Given the description of an element on the screen output the (x, y) to click on. 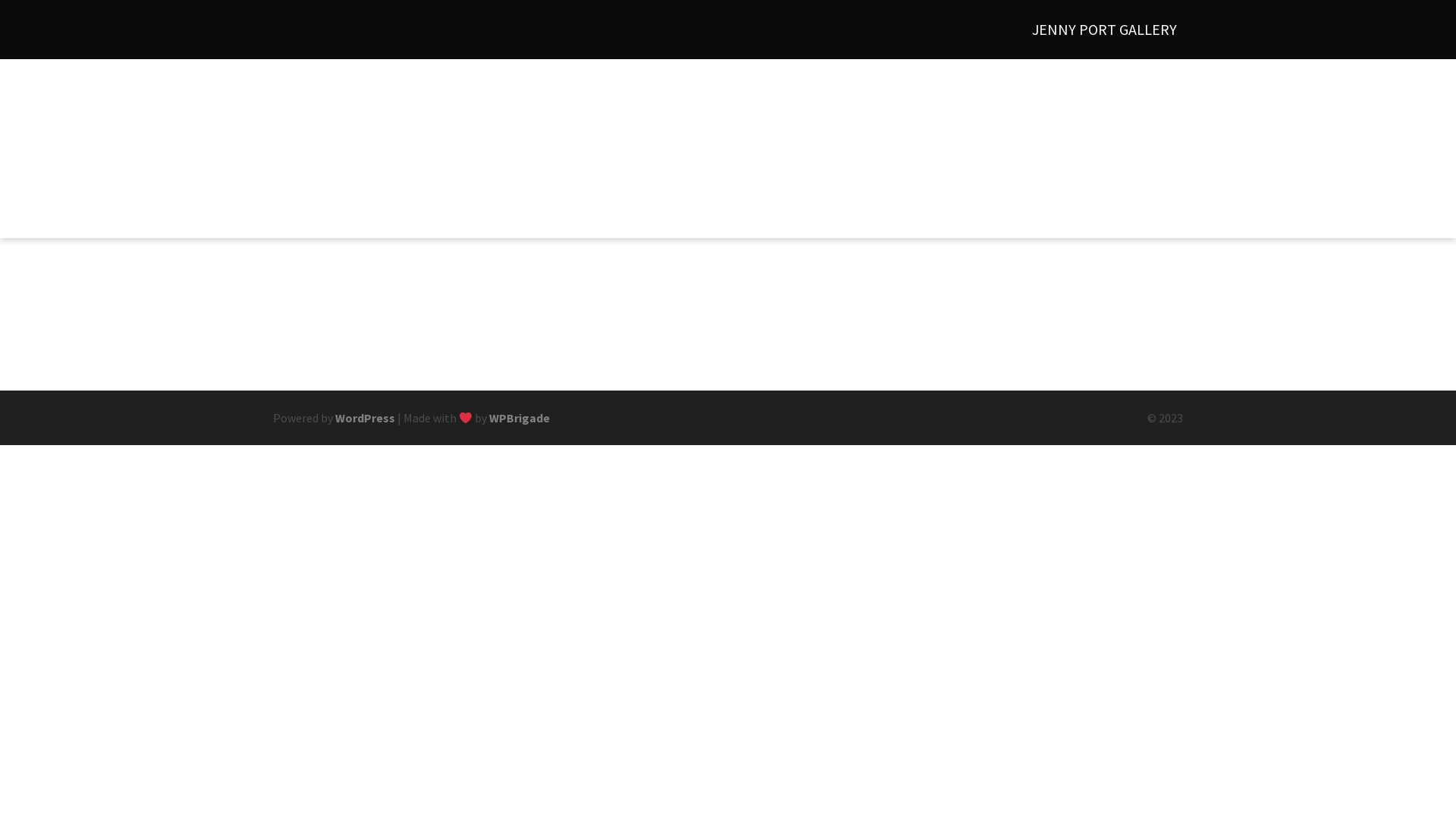
JENNY PORT GALLERY Element type: text (1103, 29)
WordPress Element type: text (365, 417)
WPBrigade Element type: text (519, 417)
